Given the description of an element on the screen output the (x, y) to click on. 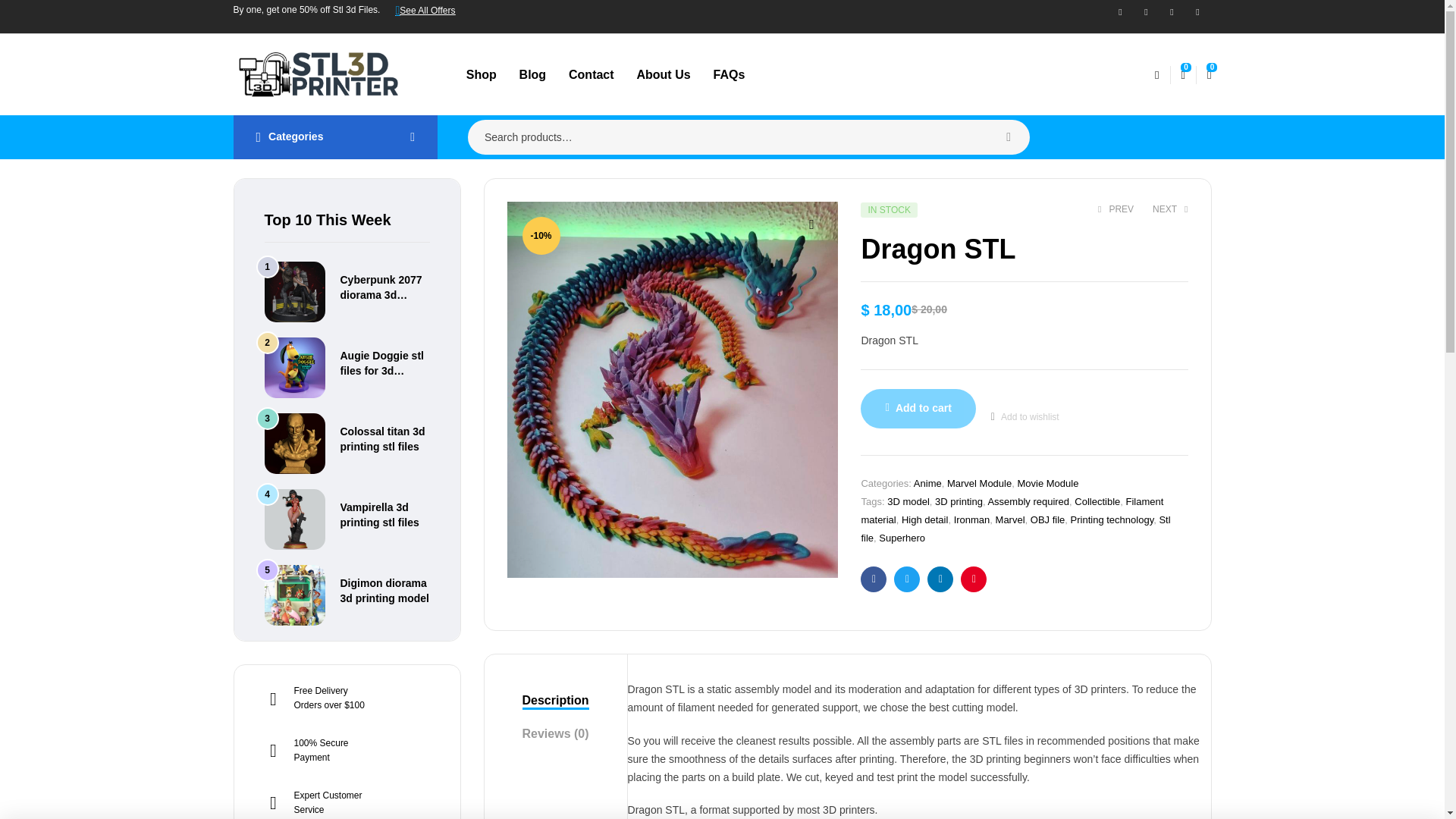
Add to wishlist (1025, 417)
About Us (663, 74)
See All Offers (424, 10)
3D model (908, 501)
Movie Module (1047, 482)
NEXT (1170, 209)
Share on Twitter (906, 579)
Share on facebook (873, 579)
Marvel Module (979, 482)
Assembly required (1027, 501)
PREV (1115, 209)
Search (1008, 136)
Anime (928, 482)
Share on LinkedIn (940, 579)
3D printing (958, 501)
